Given the description of an element on the screen output the (x, y) to click on. 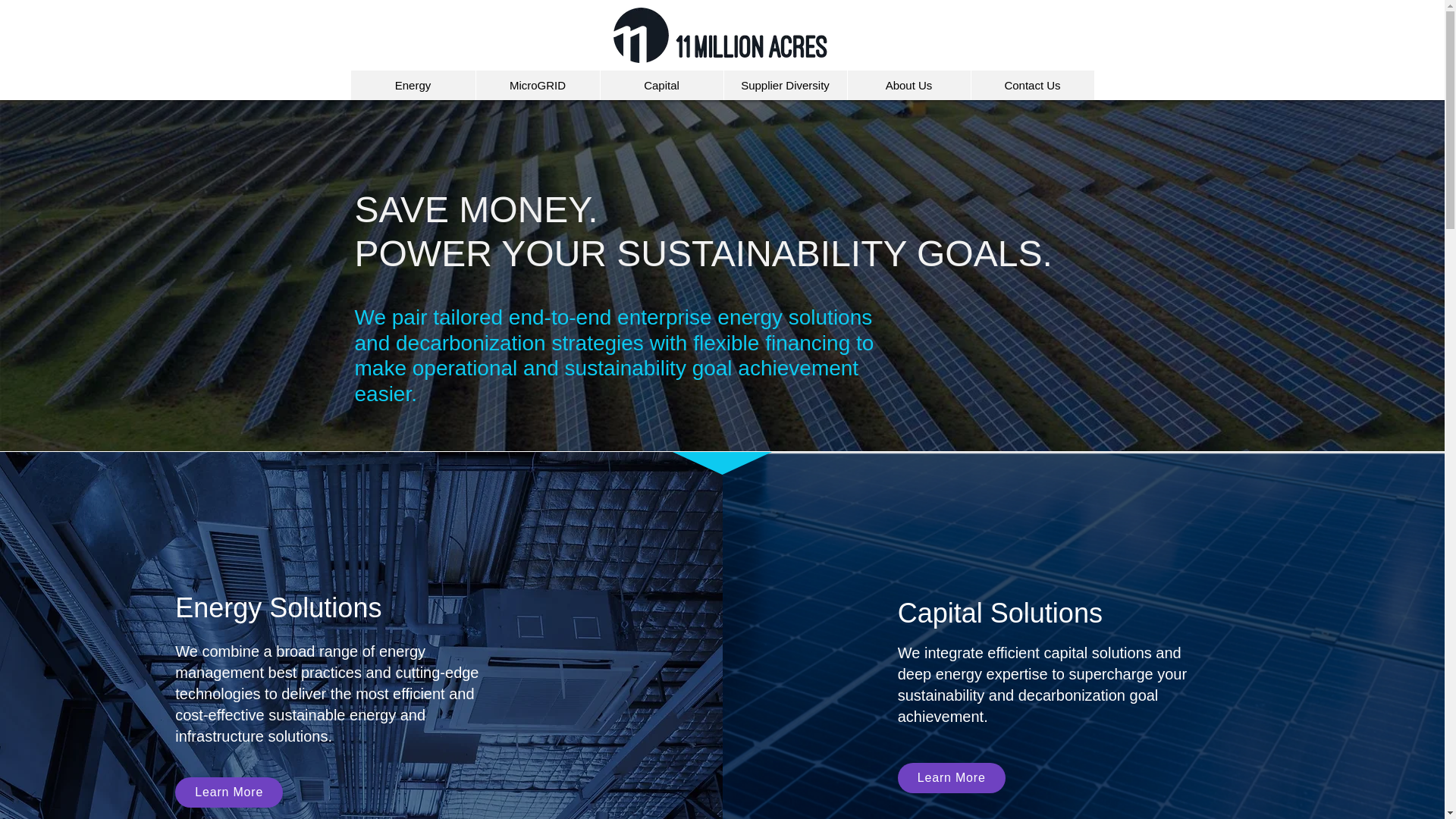
Learn More (952, 777)
MicroGRID (536, 84)
About Us (907, 84)
Energy (412, 84)
Learn More (228, 792)
Supplier Diversity (785, 84)
Contact Us (1032, 84)
Capital (660, 84)
